Given the description of an element on the screen output the (x, y) to click on. 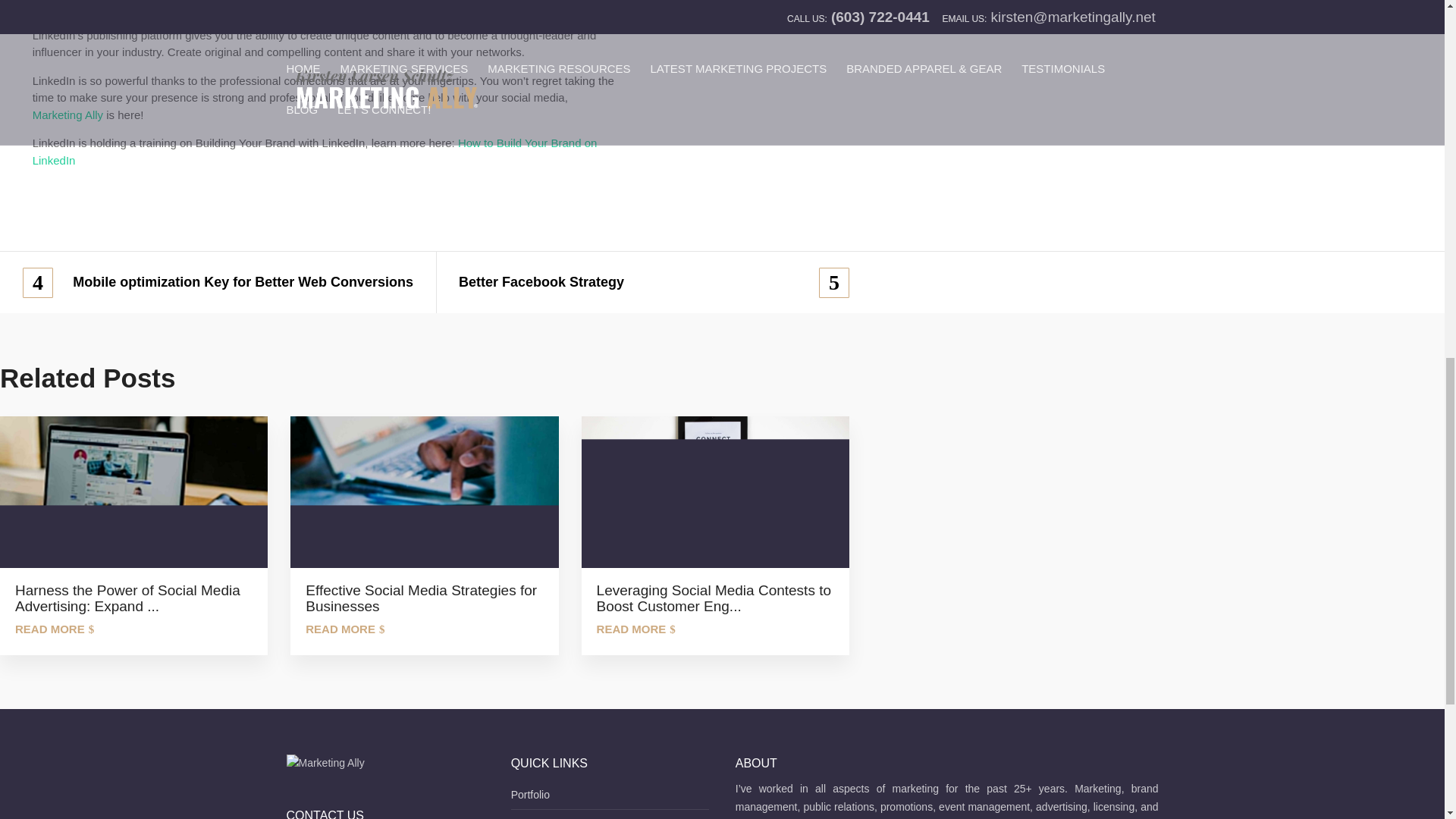
Mobile optimization Key for Better Web Conversions (218, 282)
READ MORE (344, 628)
Harness the Power of Social Media Advertising: Expand ... (133, 595)
Marketing Ally (67, 113)
Better Facebook Strategy (653, 282)
How to Build Your Brand on LinkedIn (314, 151)
READ MORE (54, 628)
Leveraging Social Media Contests to Boost Customer Eng... (714, 595)
Effective Social Media Strategies for Businesses (423, 595)
Portfolio (530, 794)
READ MORE (635, 628)
